Given the description of an element on the screen output the (x, y) to click on. 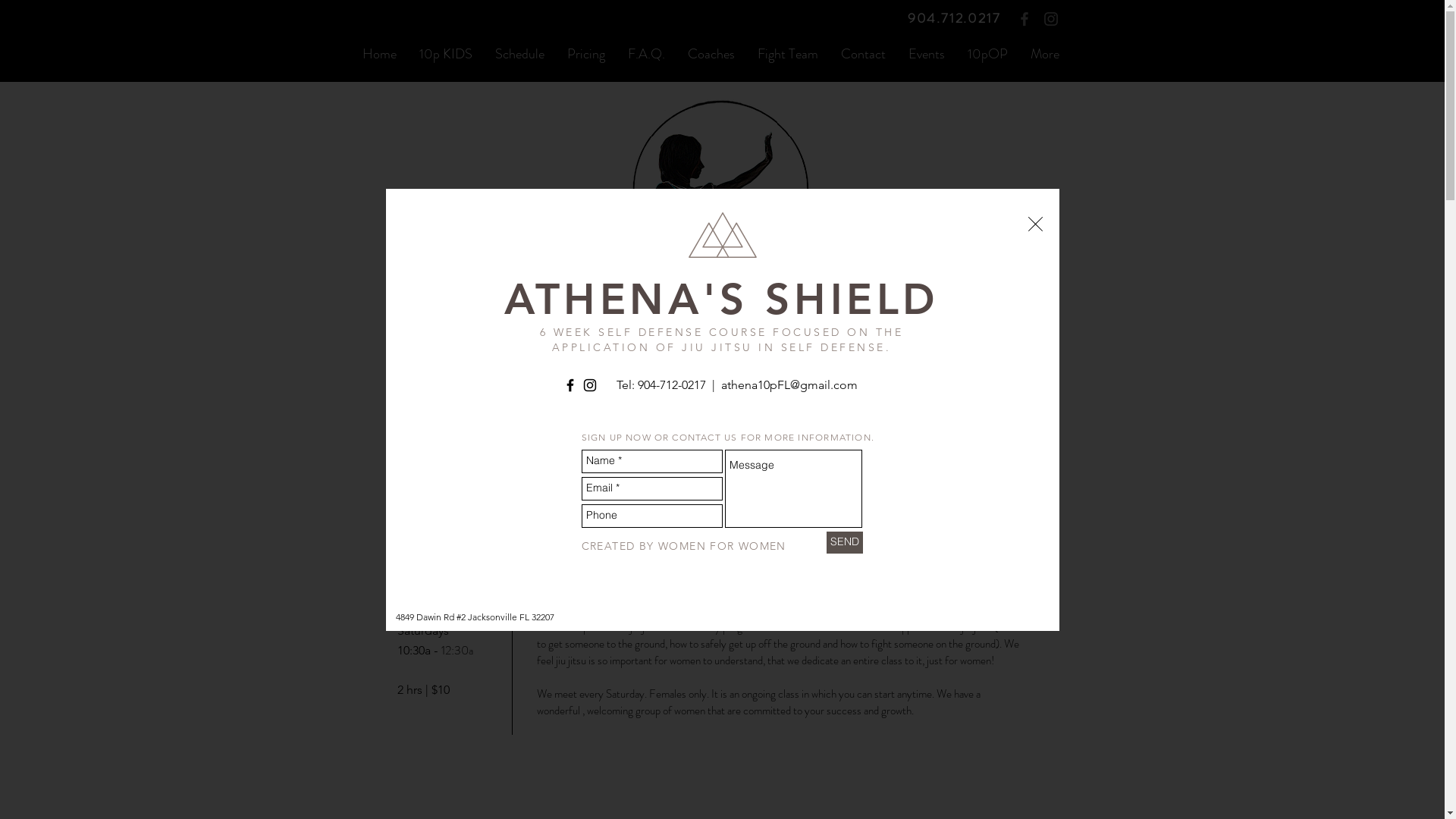
SEND Element type: text (844, 541)
Home Element type: text (378, 53)
Events Element type: text (925, 53)
Contact Element type: text (863, 53)
Back to site Element type: hover (1035, 223)
Schedule Element type: text (519, 53)
Coaches Element type: text (711, 53)
10p KIDS Element type: text (445, 53)
athena10pFL@gmail.com Element type: text (788, 384)
10pOP Element type: text (986, 53)
Pricing Element type: text (585, 53)
F.A.Q. Element type: text (645, 53)
Fight Team Element type: text (787, 53)
